Given the description of an element on the screen output the (x, y) to click on. 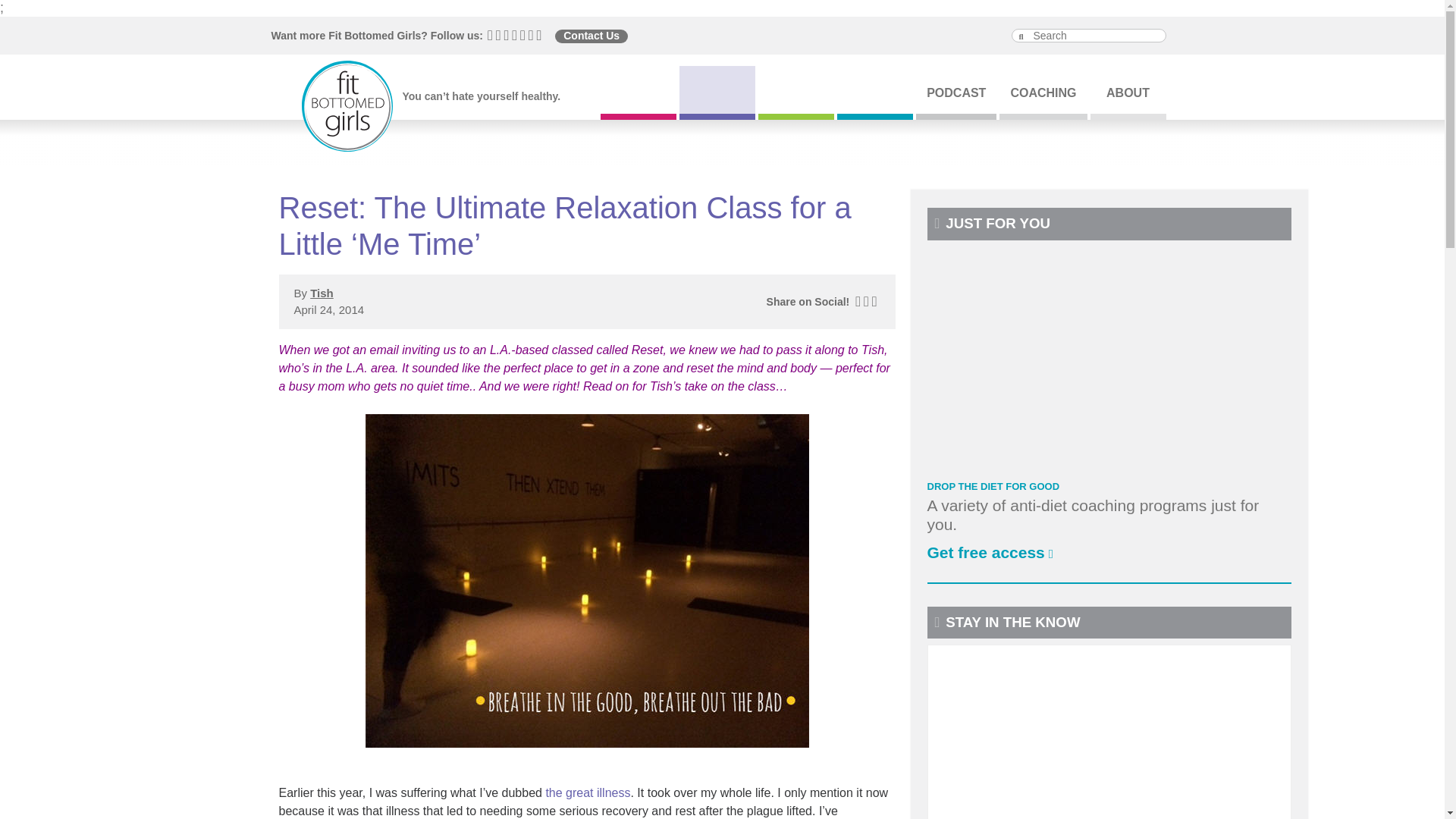
Tish (874, 349)
reset (647, 349)
Posts by Tish (321, 292)
illness (587, 792)
Contact Us (590, 36)
